Given the description of an element on the screen output the (x, y) to click on. 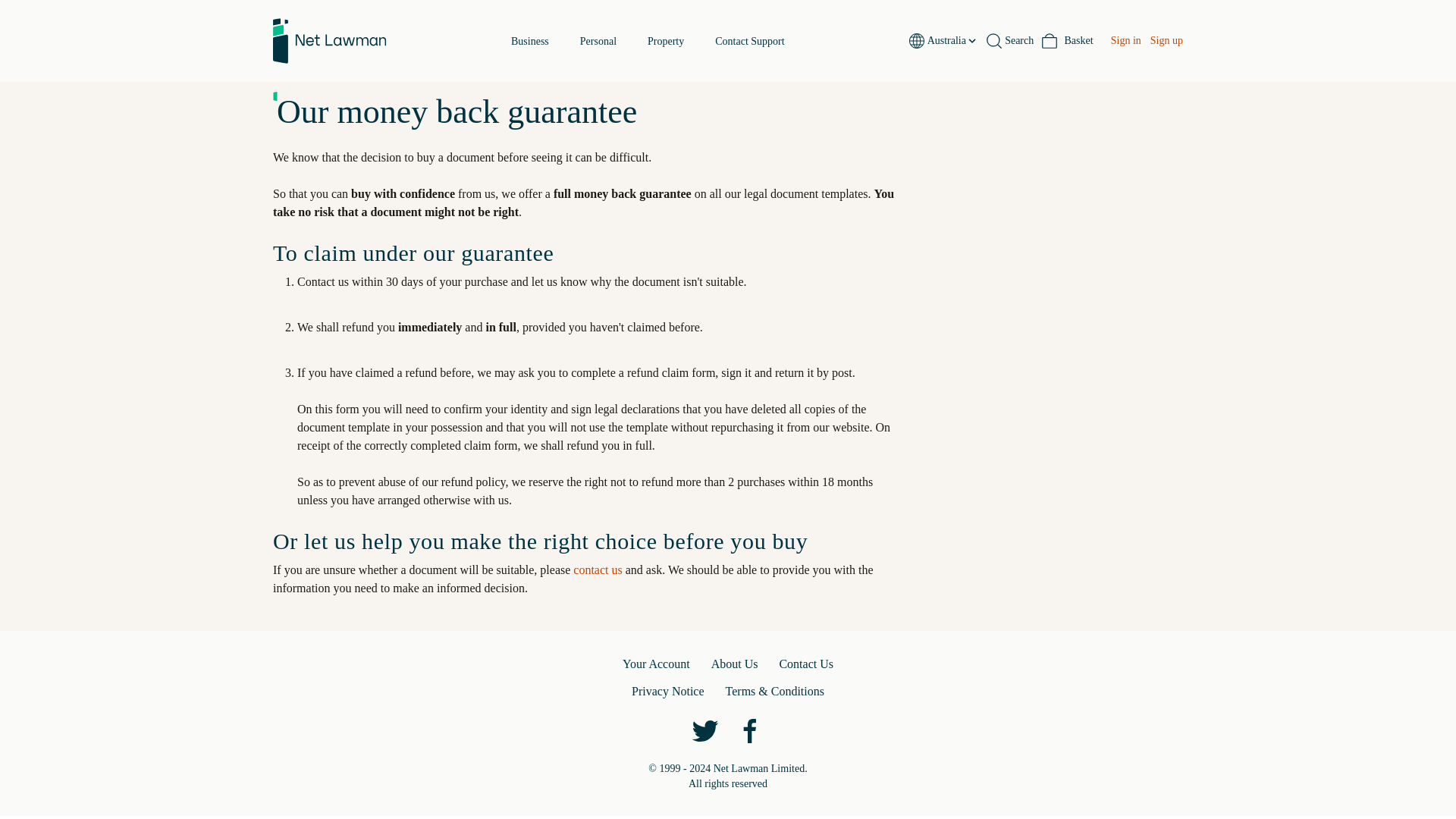
About Us (734, 664)
Property (665, 41)
Contact Support (749, 41)
Personal (597, 41)
Australia (952, 40)
contact us (597, 569)
Business (647, 40)
Your Account (529, 41)
Search (656, 664)
Sign up (1010, 40)
Basket (1166, 40)
Privacy Notice (1067, 40)
Sign in (667, 691)
Contact Us (1125, 40)
